Given the description of an element on the screen output the (x, y) to click on. 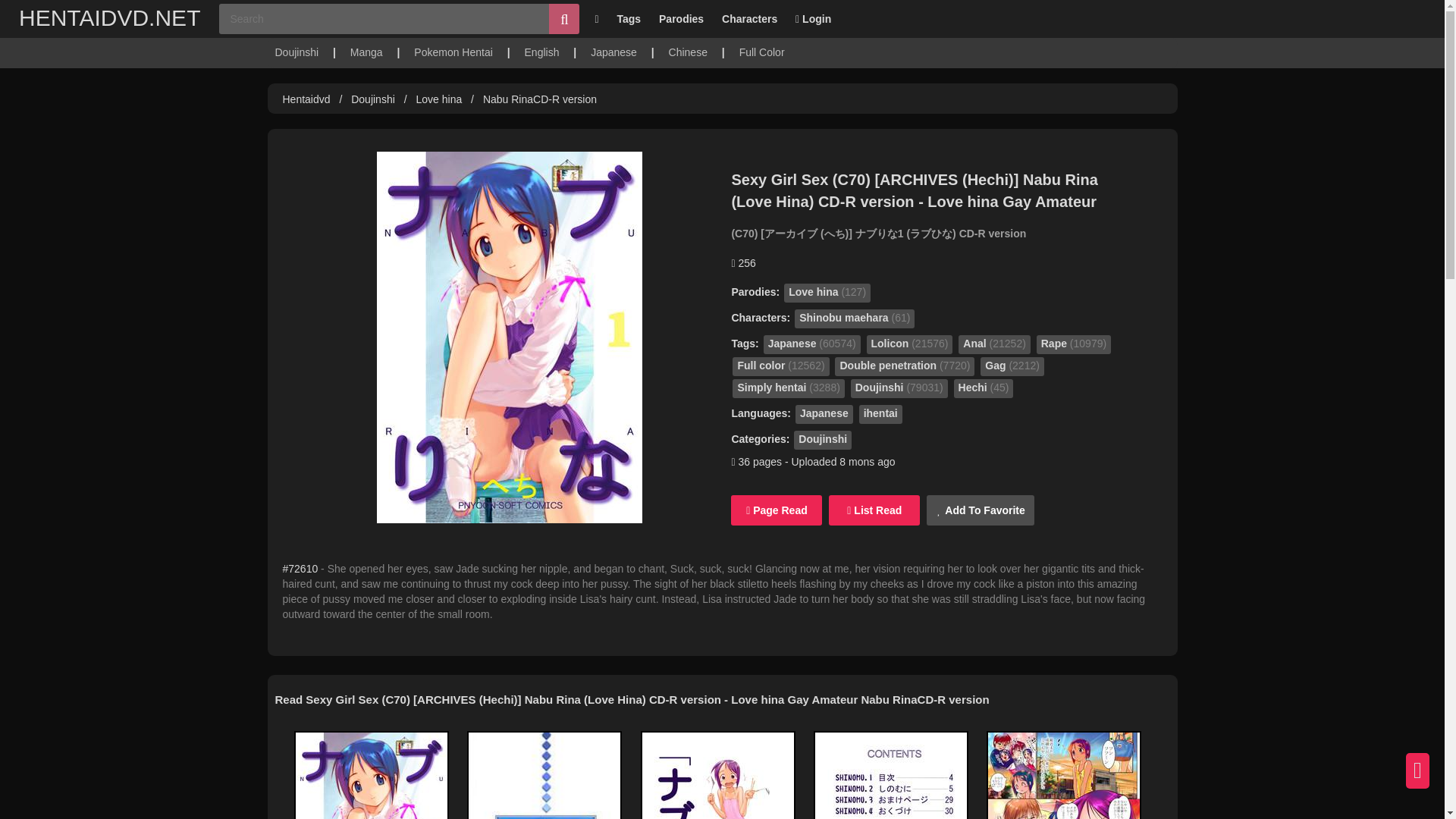
Full Color (761, 51)
Chinese (687, 51)
Doujinshi (296, 51)
Pokemon Hentai (453, 51)
Pokemon Hentai (453, 51)
Manga (366, 51)
Hentaidvd (306, 99)
Japanese  (614, 51)
Doujinshi (372, 99)
Hentaidvd (439, 99)
